Given the description of an element on the screen output the (x, y) to click on. 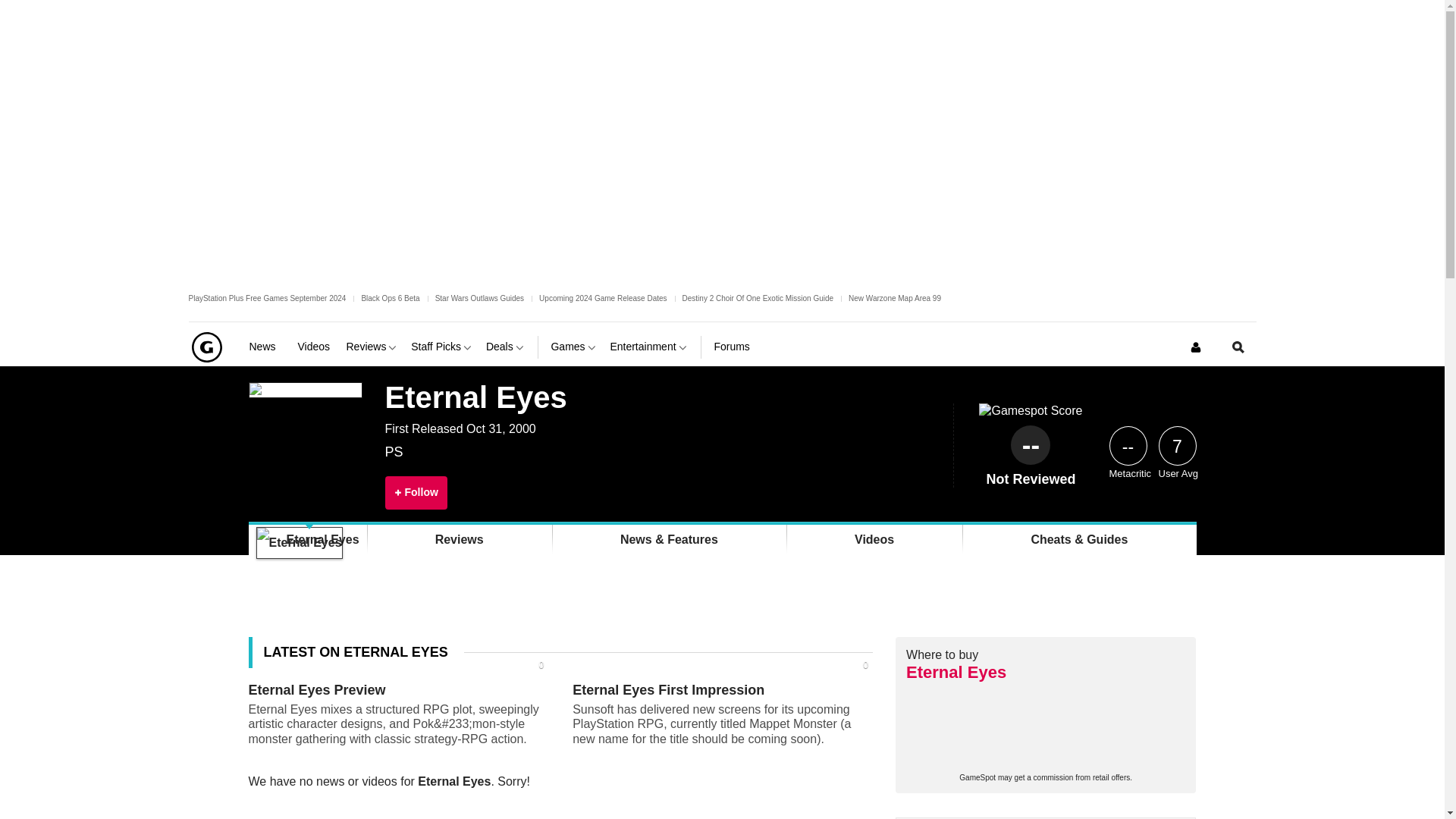
PlayStation Plus Free Games September 2024 (266, 298)
Star Wars Outlaws Guides (479, 298)
Deals (505, 347)
Black Ops 6 Beta (390, 298)
Staff Picks (442, 347)
News (266, 347)
Reviews (372, 347)
Upcoming 2024 Game Release Dates (602, 298)
Games (573, 347)
